Given the description of an element on the screen output the (x, y) to click on. 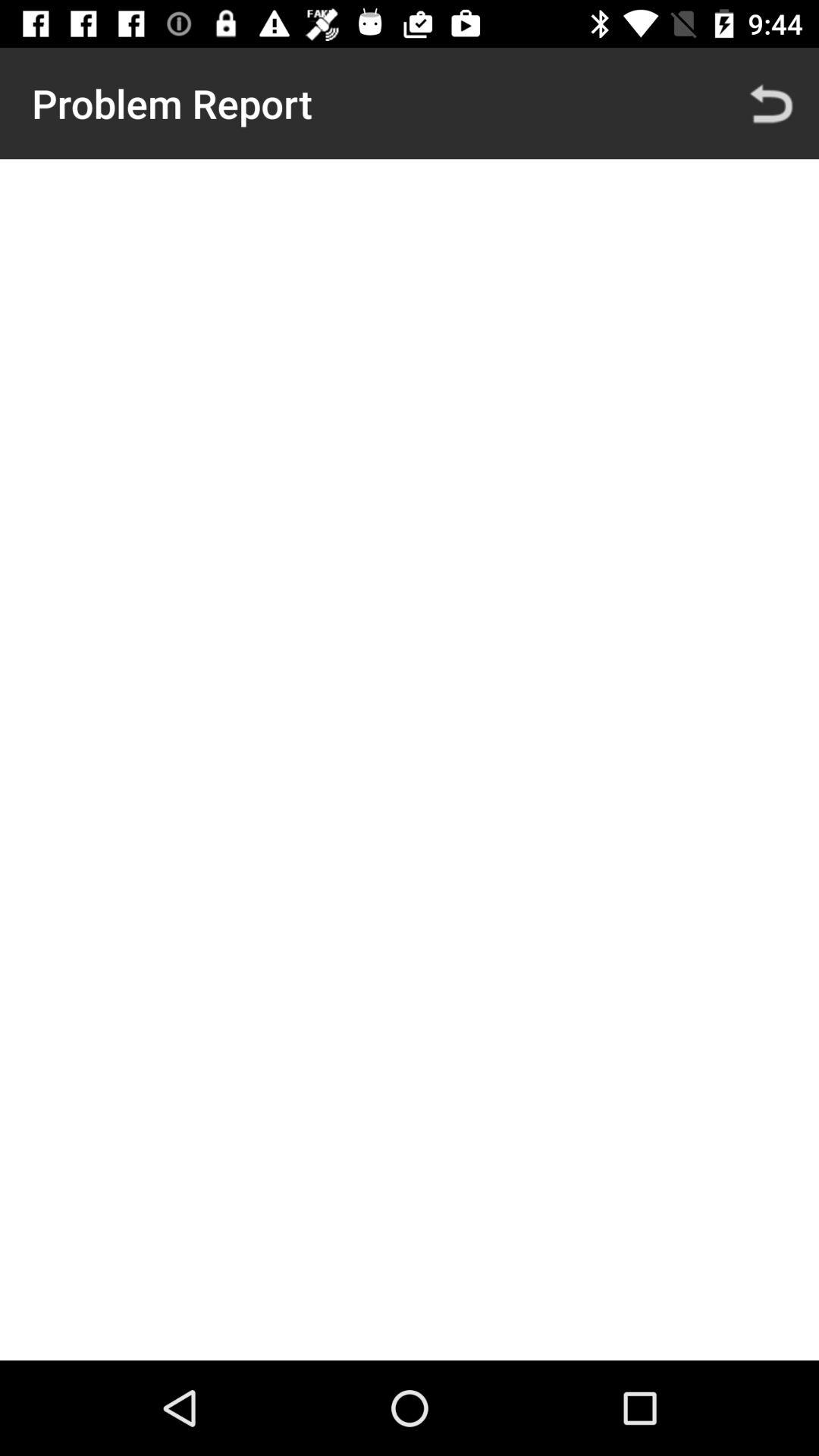
turn on icon to the right of problem report (771, 103)
